Given the description of an element on the screen output the (x, y) to click on. 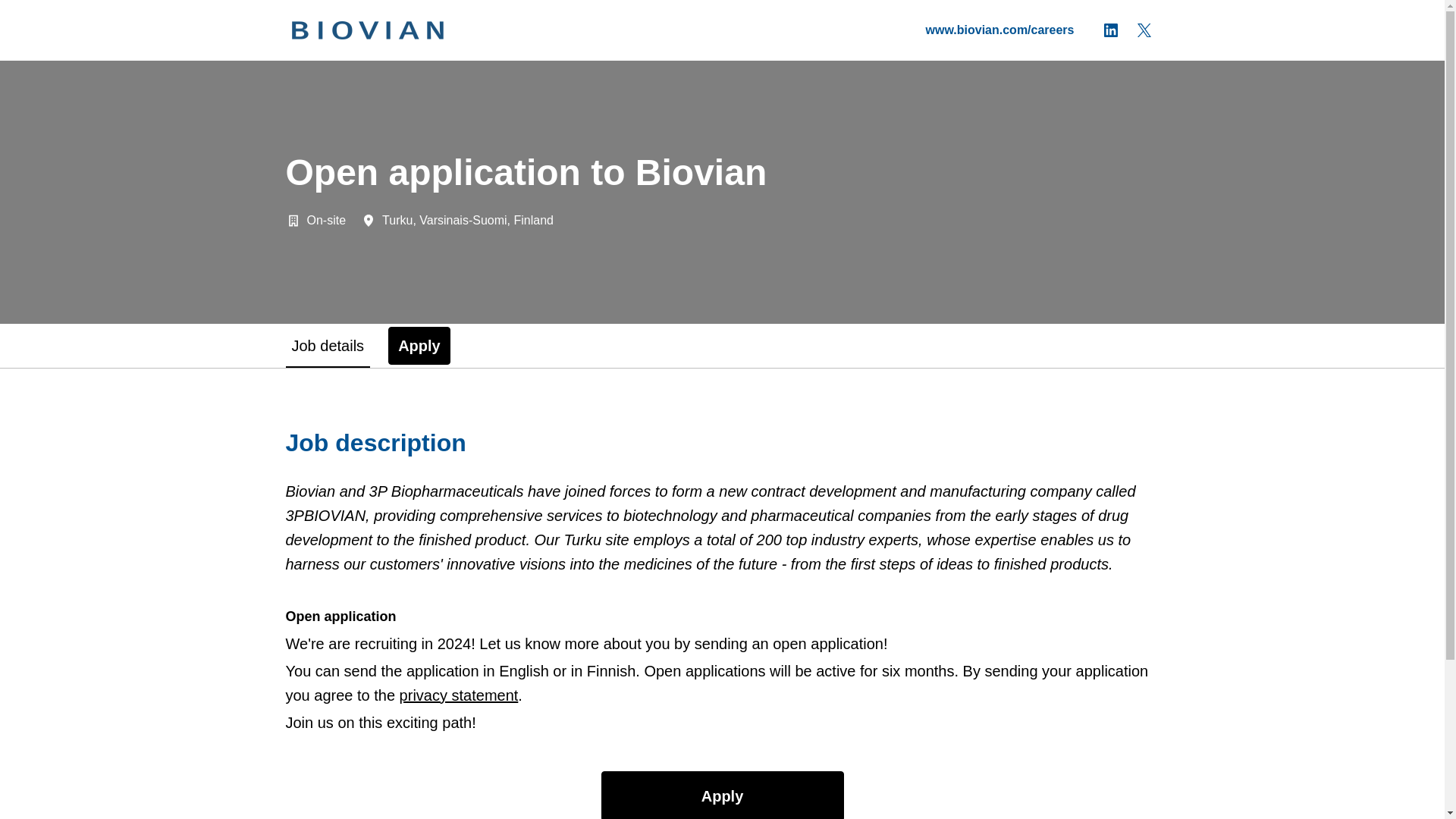
Apply (721, 795)
Homepage (366, 30)
linkedin (1109, 30)
Apply (418, 345)
Job details (327, 345)
privacy statement (458, 695)
twitter (1143, 30)
